Given the description of an element on the screen output the (x, y) to click on. 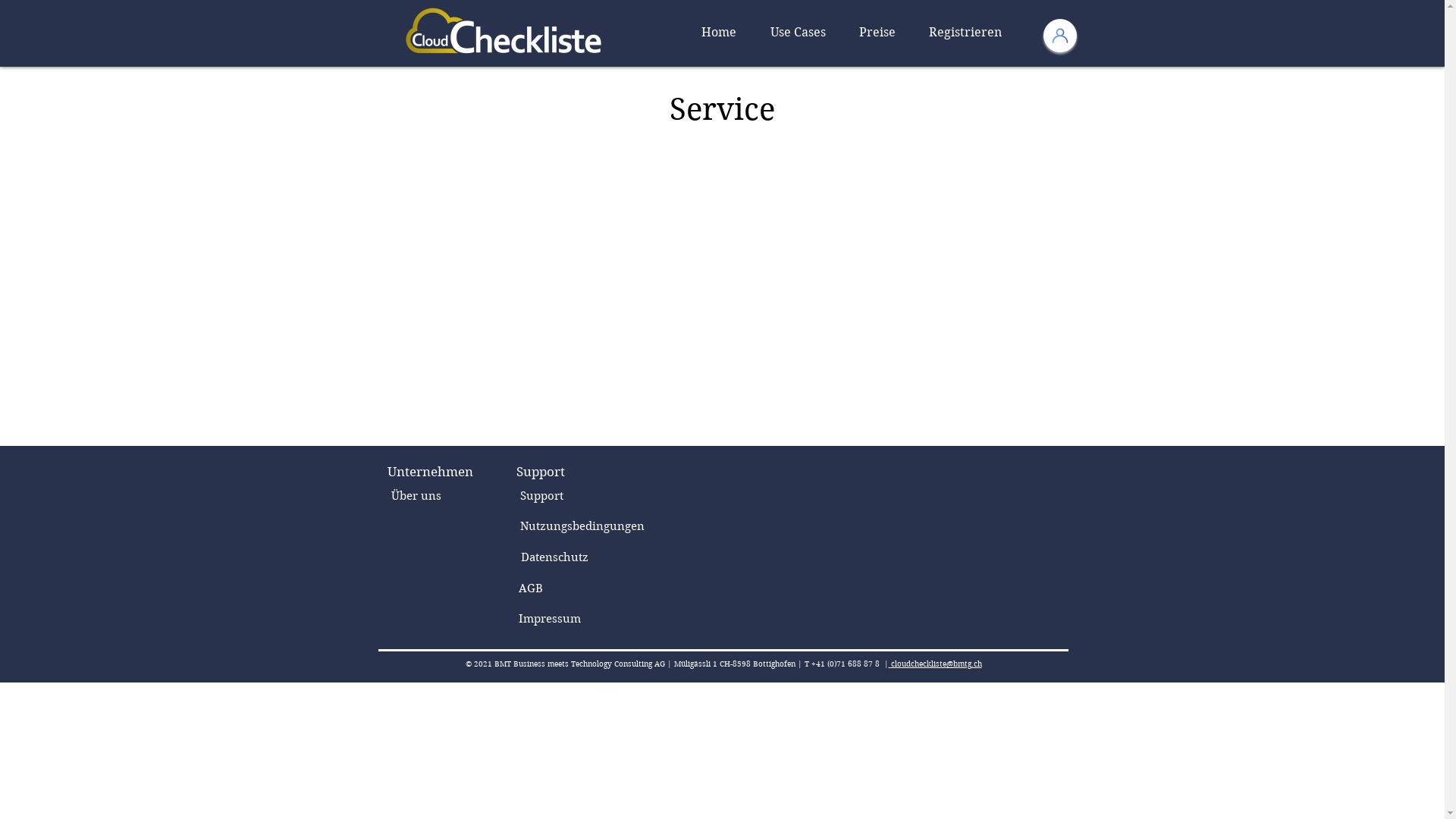
Datenschutz Element type: text (553, 557)
Registrieren Element type: text (964, 32)
Home Element type: text (718, 32)
Support Element type: text (540, 495)
Nutzungsbedingungen Element type: text (581, 526)
  Element type: text (889, 663)
Login Element type: hover (1059, 35)
cloudcheckliste@bmtg.ch Element type: text (935, 663)
Preise Element type: text (876, 32)
Use Cases Element type: text (797, 32)
AGB Element type: text (529, 588)
Impressum Element type: text (549, 618)
